Given the description of an element on the screen output the (x, y) to click on. 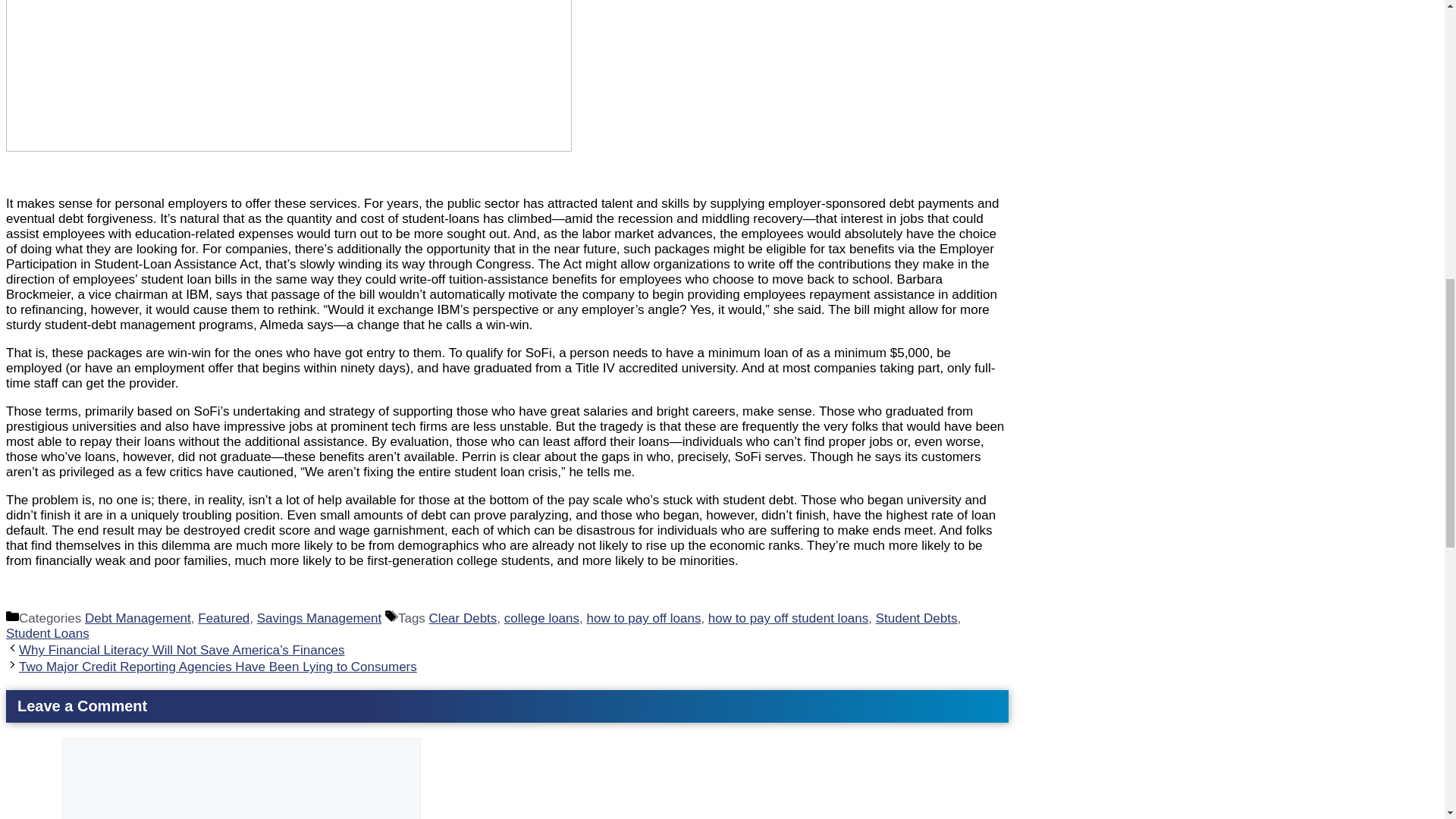
Savings Management (319, 617)
college loans (541, 617)
how to pay off student loans (787, 617)
Student Debts (917, 617)
Student Loans (46, 633)
Featured (223, 617)
Clear Debts (463, 617)
how to pay off loans (643, 617)
Debt Management (137, 617)
